Given the description of an element on the screen output the (x, y) to click on. 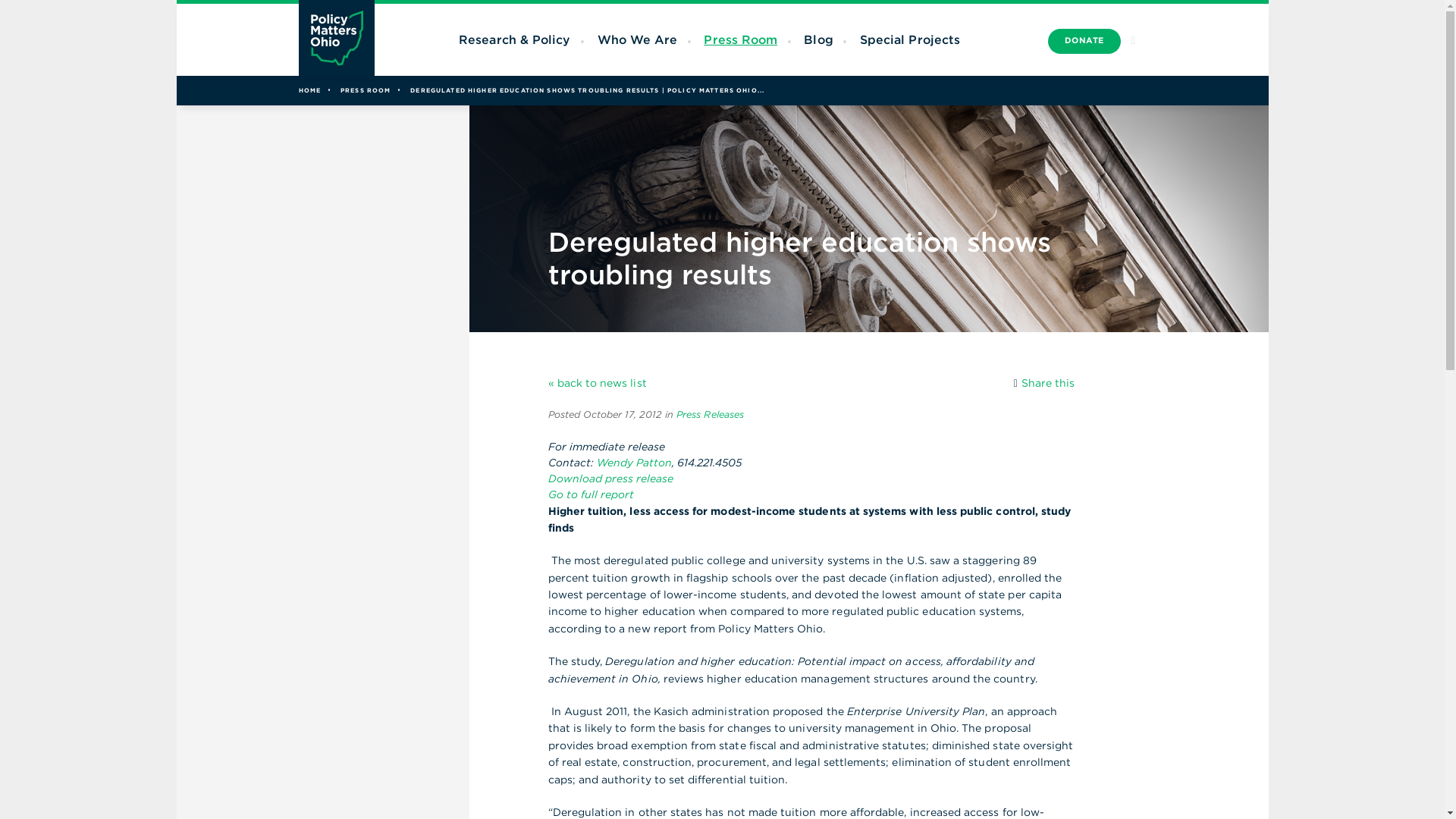
Who We Are (637, 39)
Blog (817, 39)
Special Projects (909, 39)
Who We Are (637, 39)
Press Room (740, 39)
Press Room (740, 39)
DONATE (1084, 41)
